Given the description of an element on the screen output the (x, y) to click on. 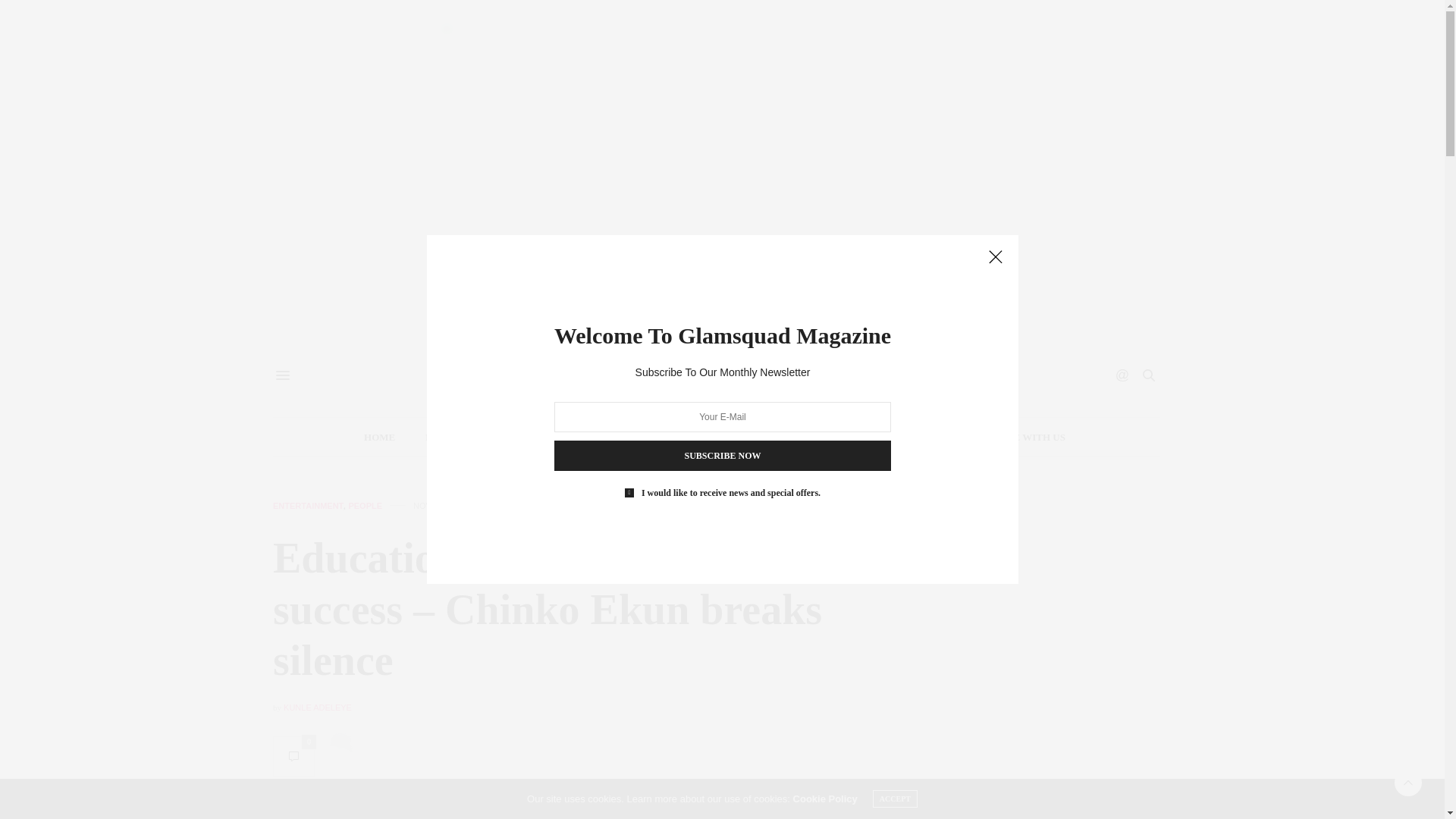
KUNLE ADELEYE (317, 706)
BEAUTY (516, 436)
FASHION (442, 436)
ADVERTISE WITH US (1013, 436)
GLAMSQUAD MAGAZINE (716, 375)
Scroll To Top (1408, 782)
PEOPLE (364, 506)
GS-MAGAZINE (807, 436)
ENTERTAINMENT (611, 436)
ENTERTAINMENT (308, 506)
CONTACT US (904, 436)
0 (293, 756)
LIFESTYLE (712, 436)
HOME (375, 436)
Posts by Kunle Adeleye (317, 706)
